Given the description of an element on the screen output the (x, y) to click on. 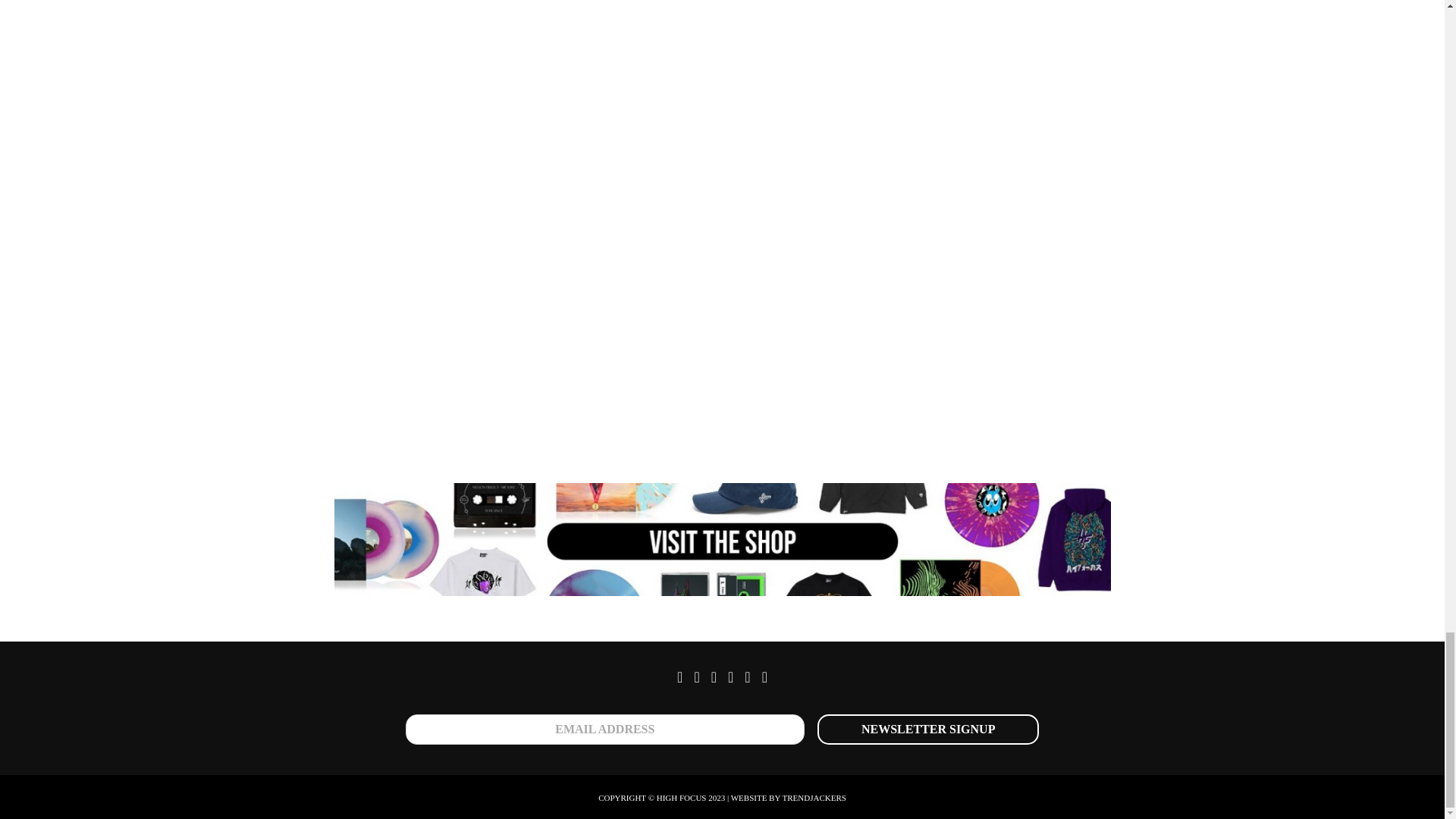
Newsletter Signup (927, 729)
